Given the description of an element on the screen output the (x, y) to click on. 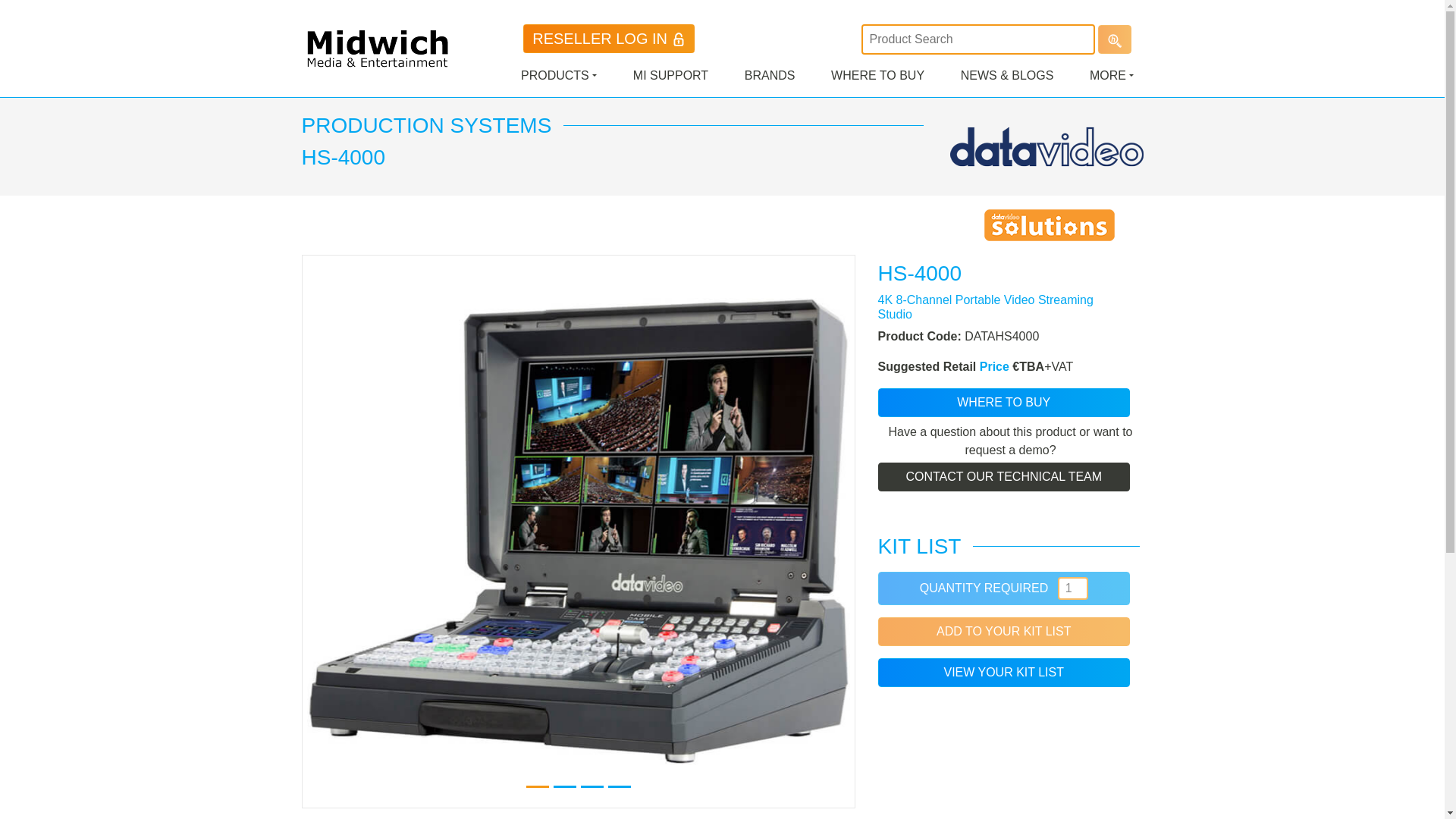
MORE (1111, 75)
MI SUPPORT (670, 75)
WHERE TO BUY (1003, 402)
Datavideo Solutions (1049, 225)
PRODUCTS (558, 75)
RESELLER LOG IN (608, 38)
Datavideo (1045, 146)
PRODUCTION SYSTEMS (426, 125)
1 (1072, 588)
